Given the description of an element on the screen output the (x, y) to click on. 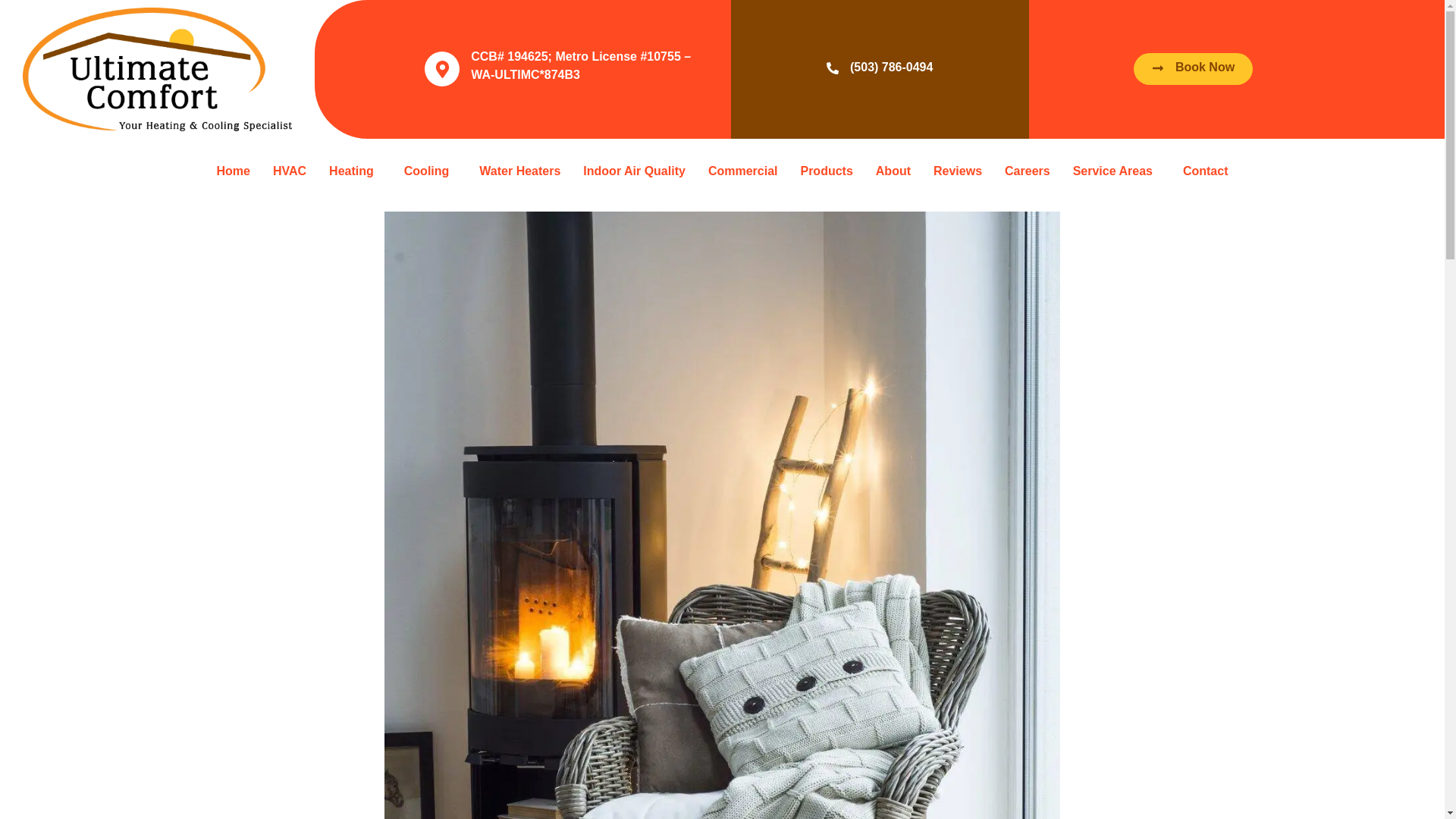
Cooling (430, 181)
Book Now (1193, 199)
Indoor Air Quality (634, 173)
Water Heaters (519, 174)
Contact (1206, 171)
Home (232, 198)
Reviews (956, 171)
HVAC (289, 196)
About (892, 171)
Service Areas (1116, 171)
Heating (355, 193)
Careers (1026, 171)
Commercial (743, 173)
Products (826, 172)
